Given the description of an element on the screen output the (x, y) to click on. 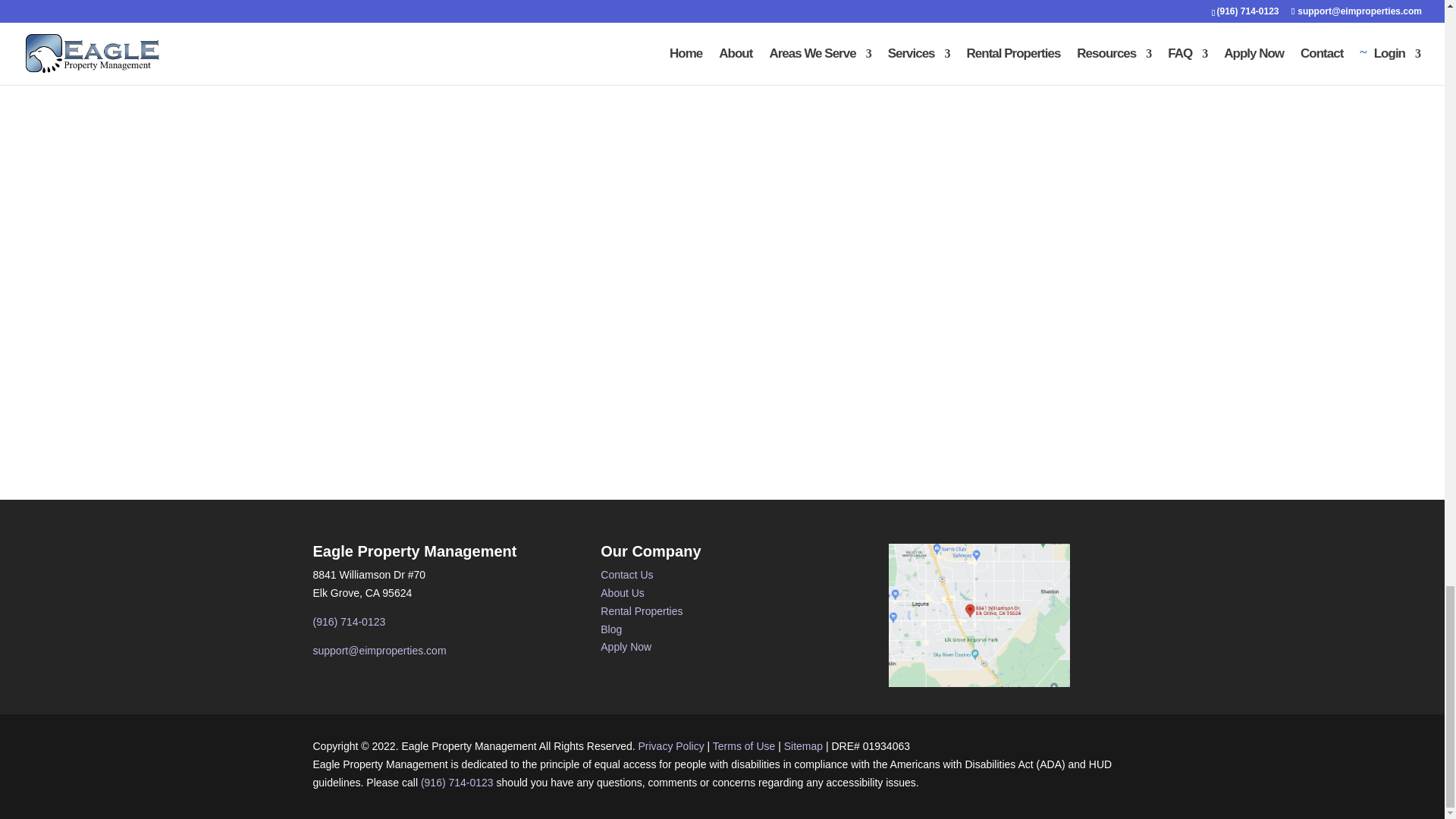
Screenshot 2022-11-08 at 7.50.38 AM (979, 615)
